Given the description of an element on the screen output the (x, y) to click on. 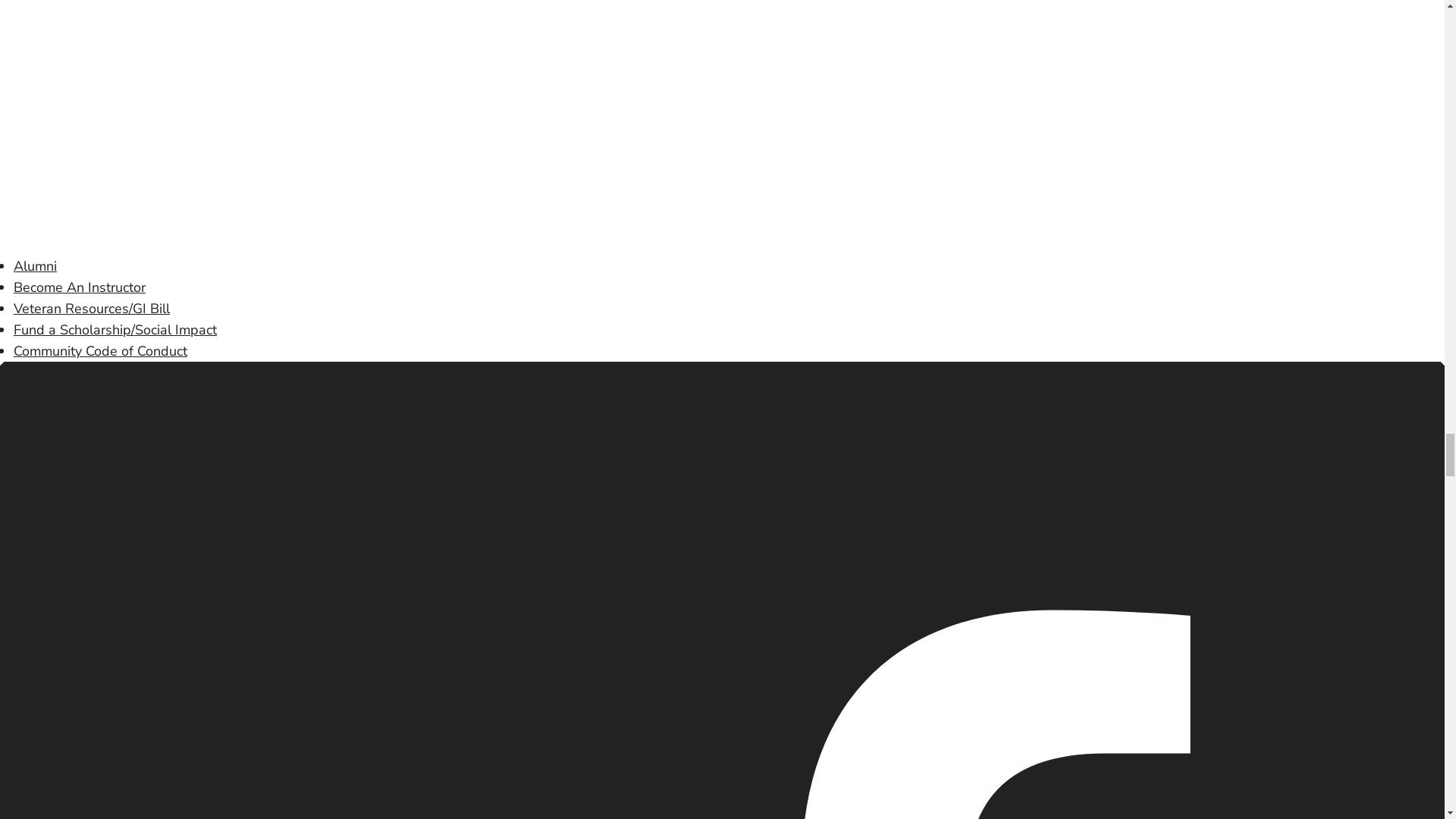
Alumni (34, 266)
Become An Instructor (79, 287)
Community Code of Conduct (100, 351)
